Given the description of an element on the screen output the (x, y) to click on. 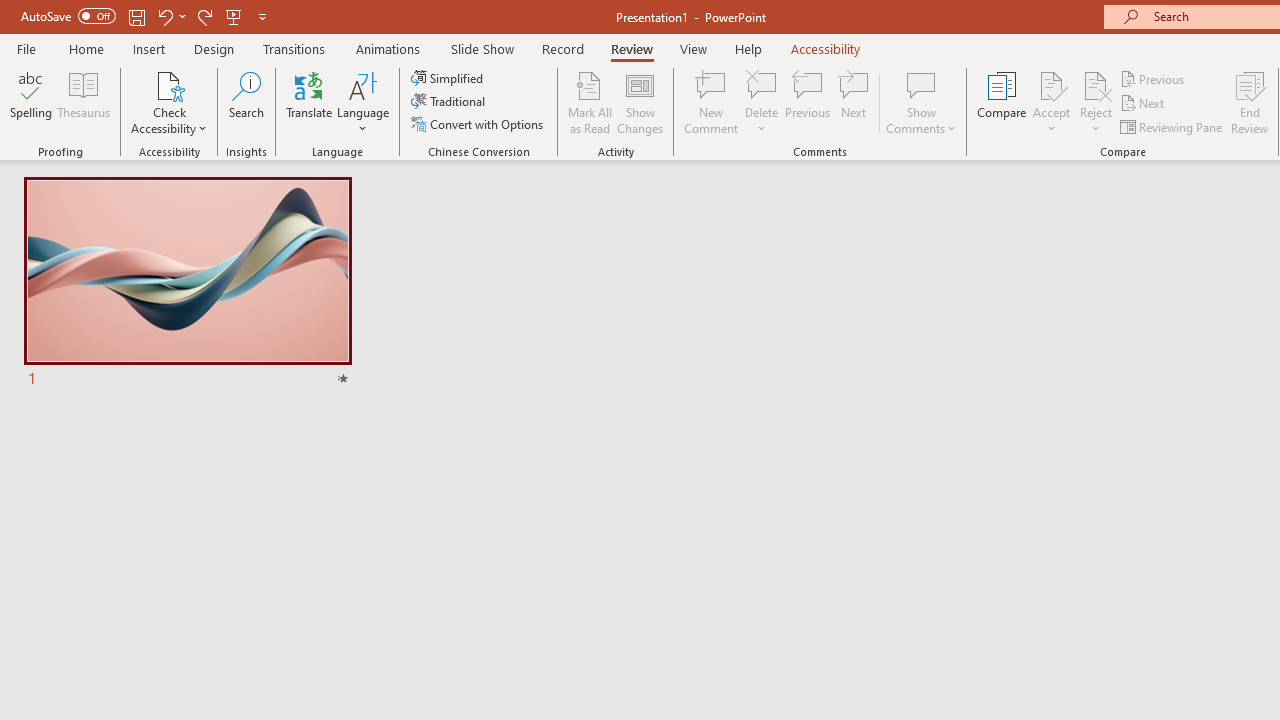
Next (1144, 103)
Reject (1096, 102)
